Given the description of an element on the screen output the (x, y) to click on. 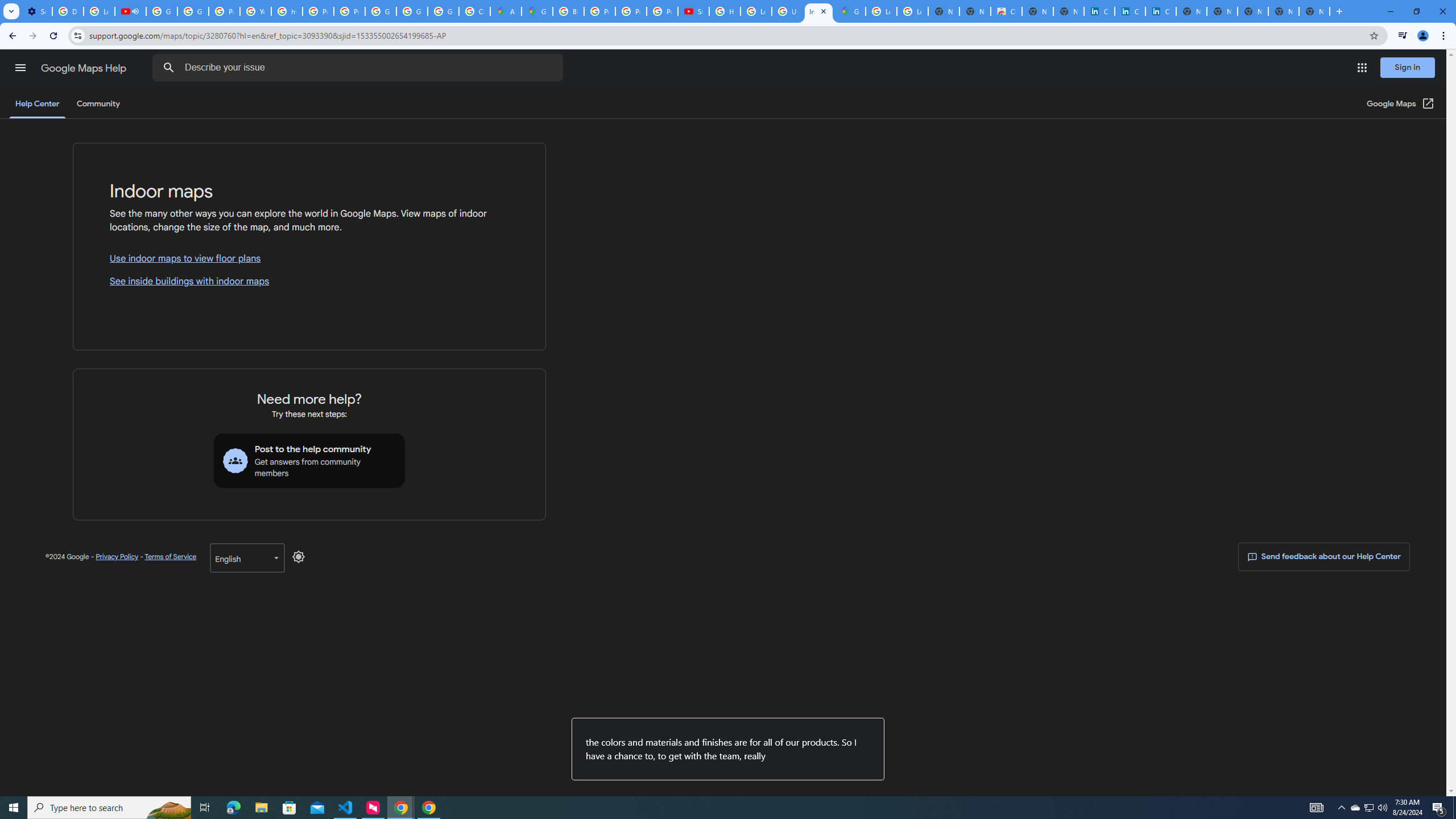
Google Maps (Open in a new window) (1400, 103)
Cookie Policy | LinkedIn (1129, 11)
Cookie Policy | LinkedIn (1098, 11)
Disable Dark Mode (299, 556)
Privacy Help Center - Policies Help (631, 11)
